Given the description of an element on the screen output the (x, y) to click on. 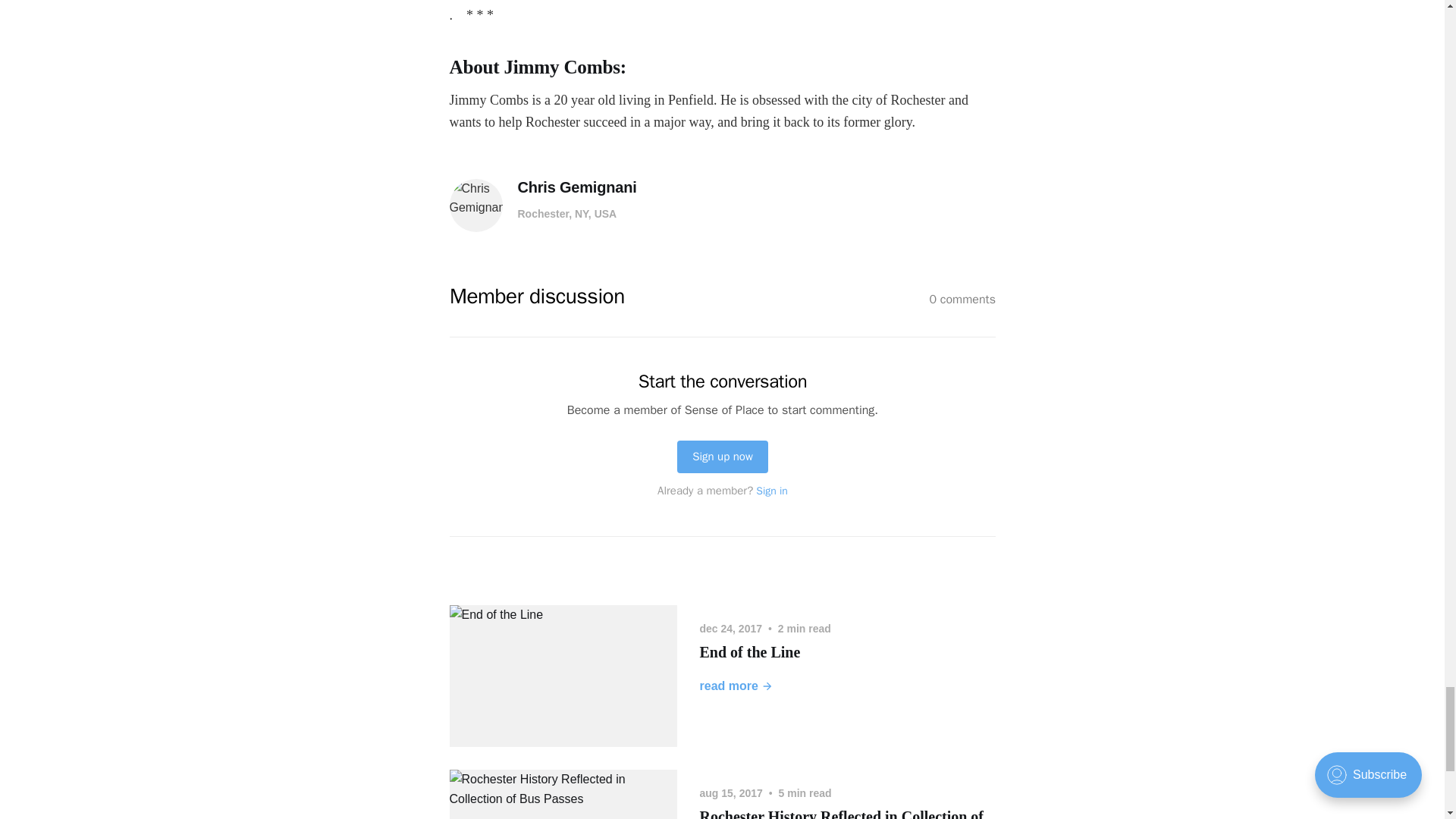
End of the Line (748, 651)
read more (735, 686)
Chris Gemignani (576, 187)
Rochester History Reflected in Collection of Bus Passes (841, 813)
